Given the description of an element on the screen output the (x, y) to click on. 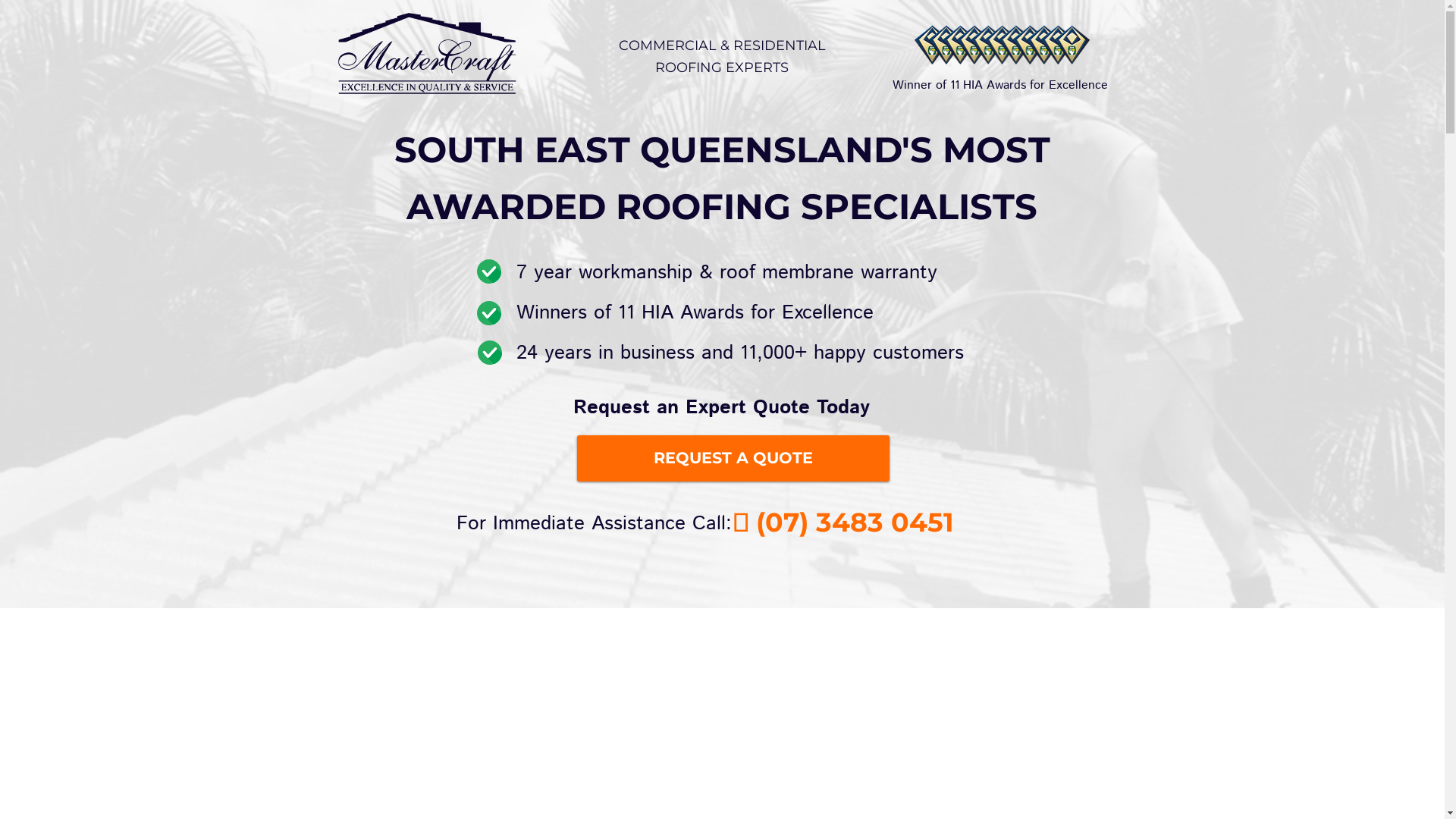
REQUEST A QUOTE Element type: text (732, 458)
